Given the description of an element on the screen output the (x, y) to click on. 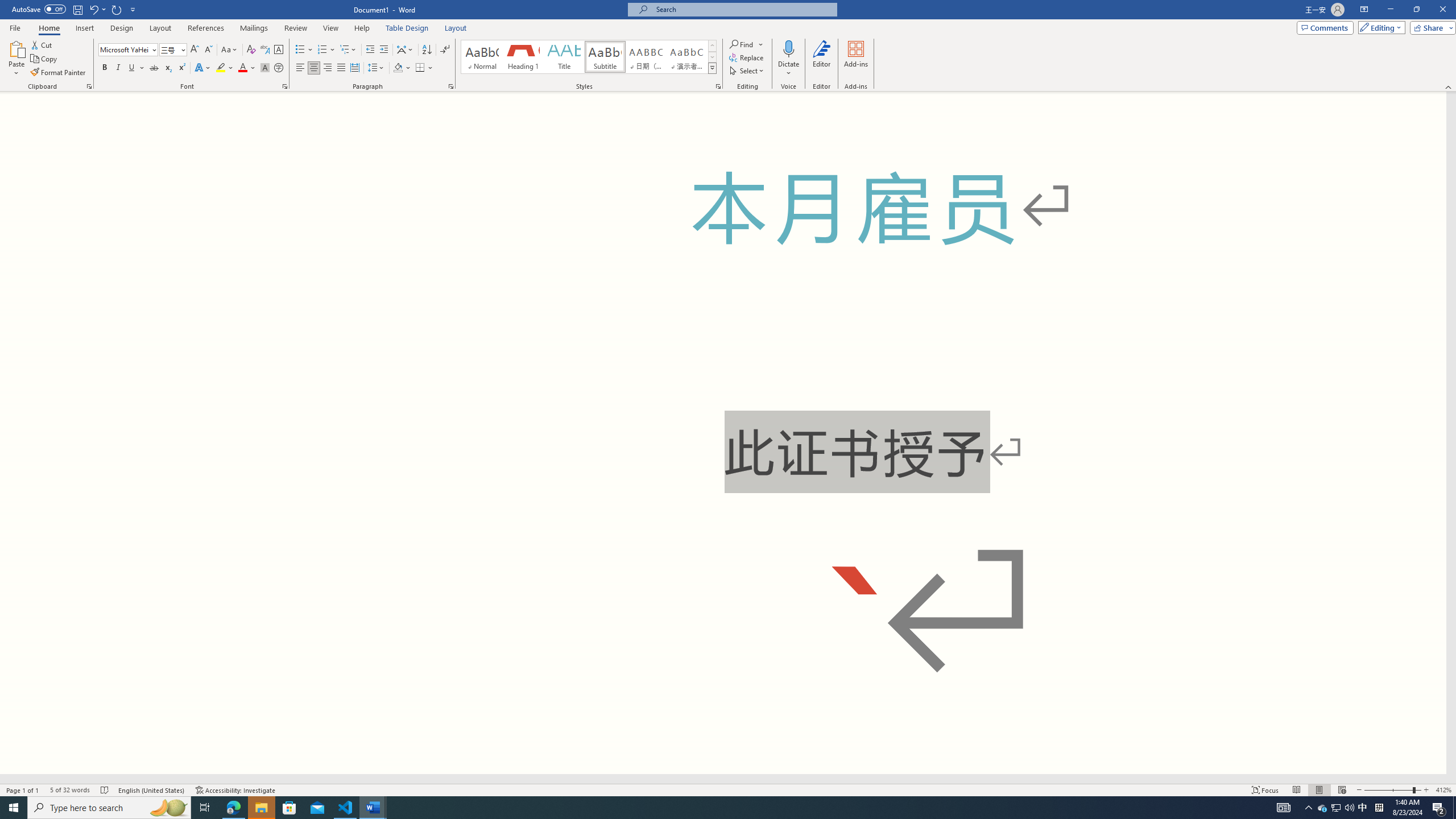
Line and Paragraph Spacing (376, 67)
Numbering (322, 49)
Shrink Font (208, 49)
Find (746, 44)
Select (747, 69)
Font Color Red (241, 67)
Styles... (717, 85)
Font Size (172, 49)
Change Case (229, 49)
Customize Quick Access Toolbar (133, 9)
Accessibility Checker Accessibility: Investigate (235, 790)
Zoom (1392, 790)
Clear Formatting (250, 49)
Class: NetUIScrollBar (722, 778)
Review (295, 28)
